Given the description of an element on the screen output the (x, y) to click on. 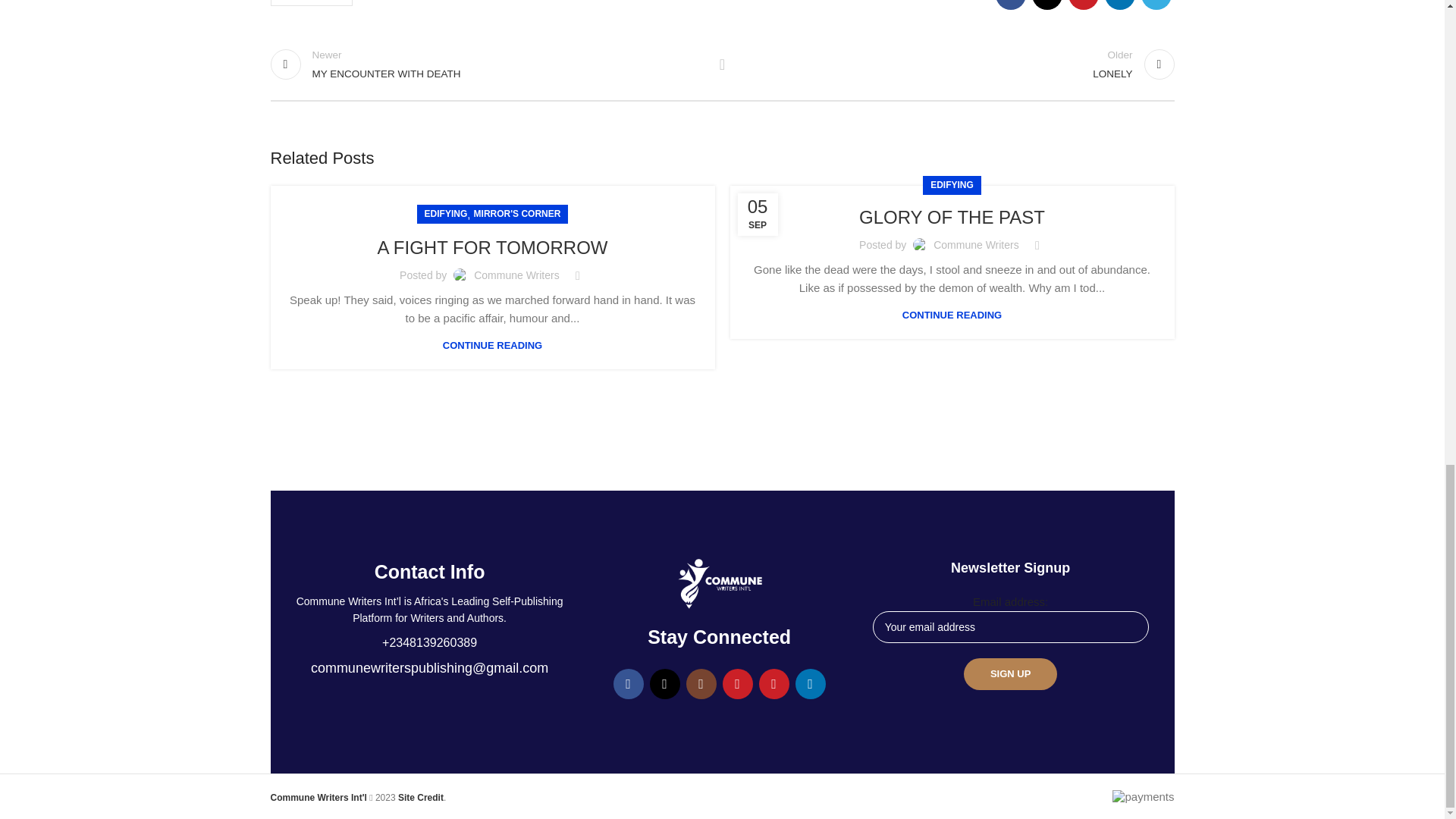
Back to list (721, 64)
A FIGHT FOR TOMORROW (492, 247)
EDIFYING (446, 213)
EDIFYING (310, 2)
MIRROR'S CORNER (955, 63)
Sign up (488, 63)
